Given the description of an element on the screen output the (x, y) to click on. 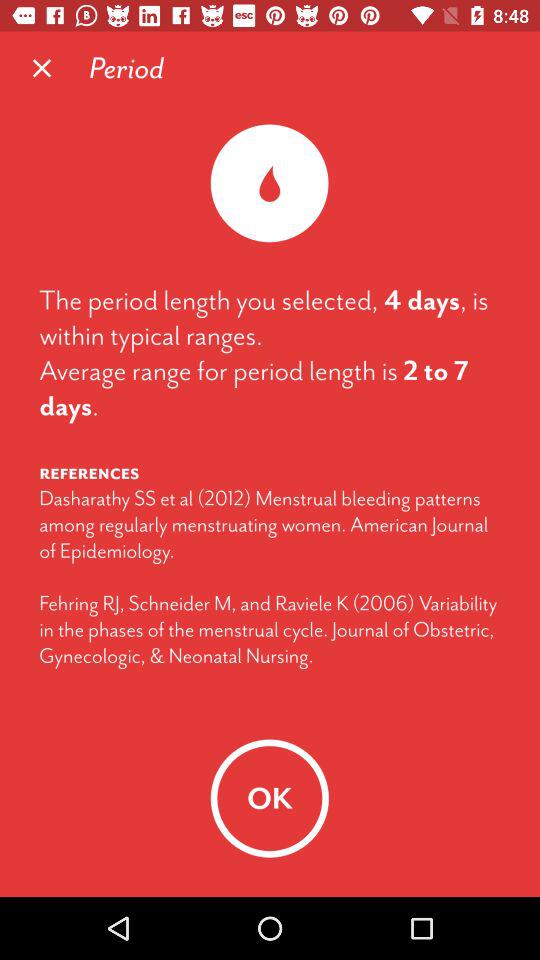
select item at the top left corner (42, 68)
